Given the description of an element on the screen output the (x, y) to click on. 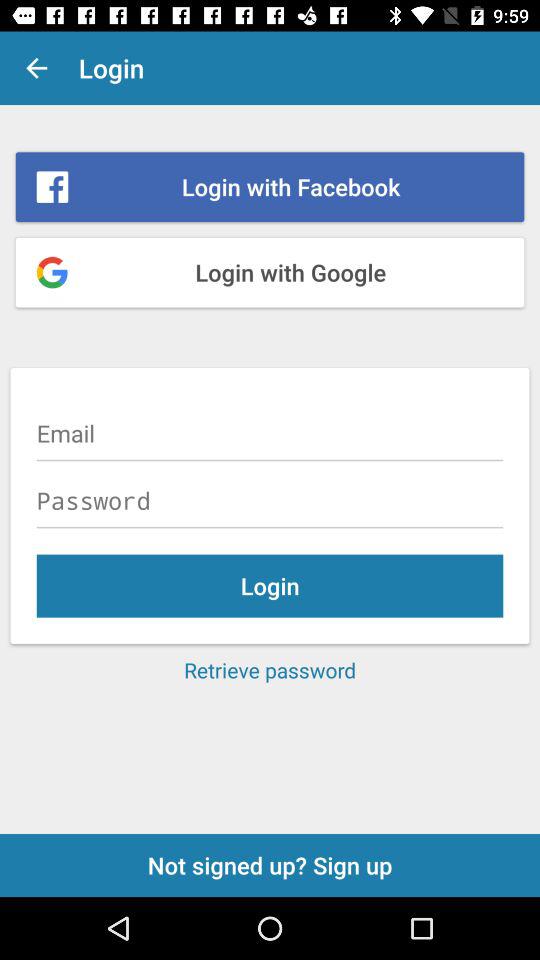
enter password (269, 500)
